Given the description of an element on the screen output the (x, y) to click on. 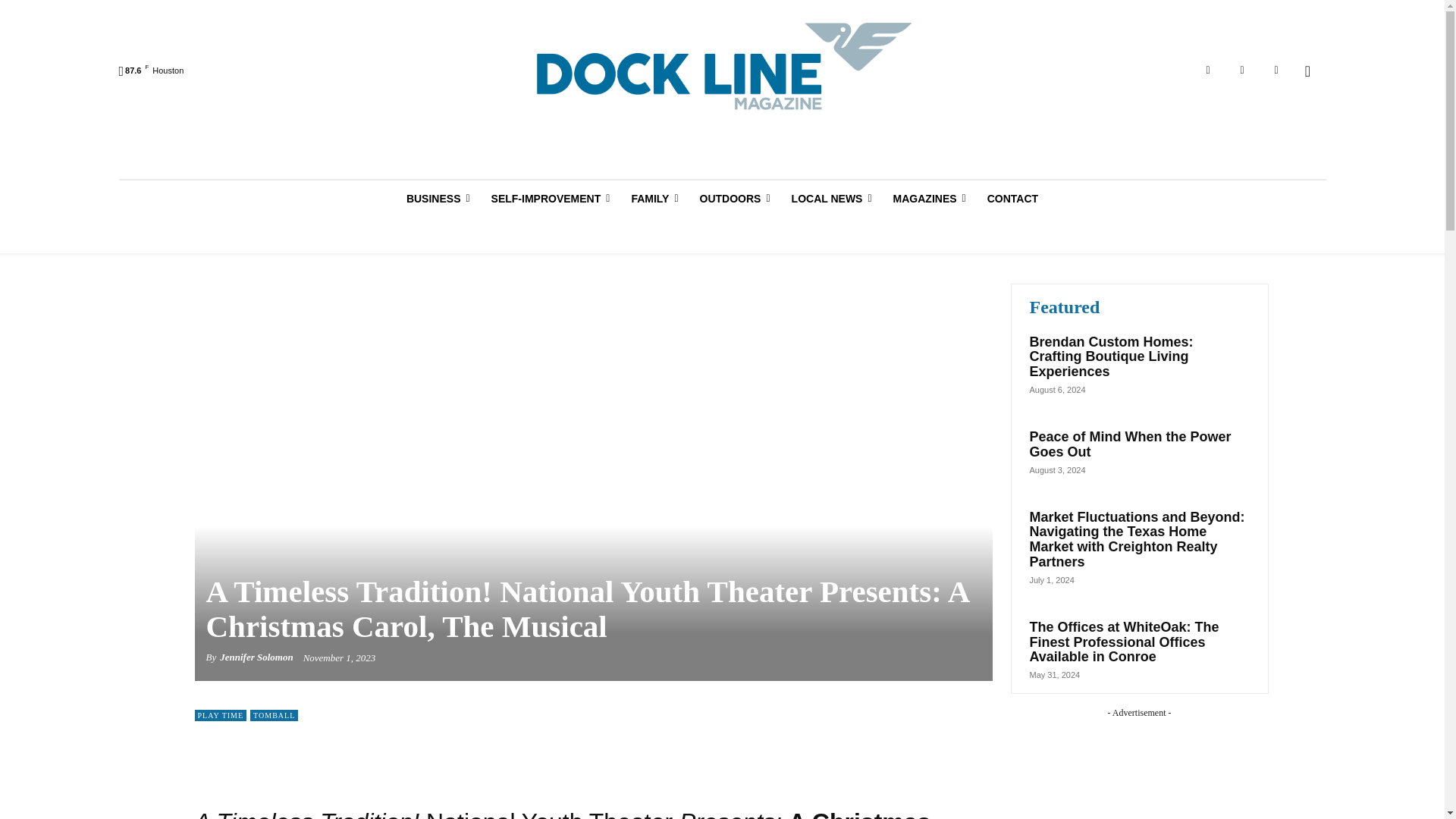
Instagram (1241, 69)
Twitter (1275, 69)
Facebook (1207, 69)
